Given the description of an element on the screen output the (x, y) to click on. 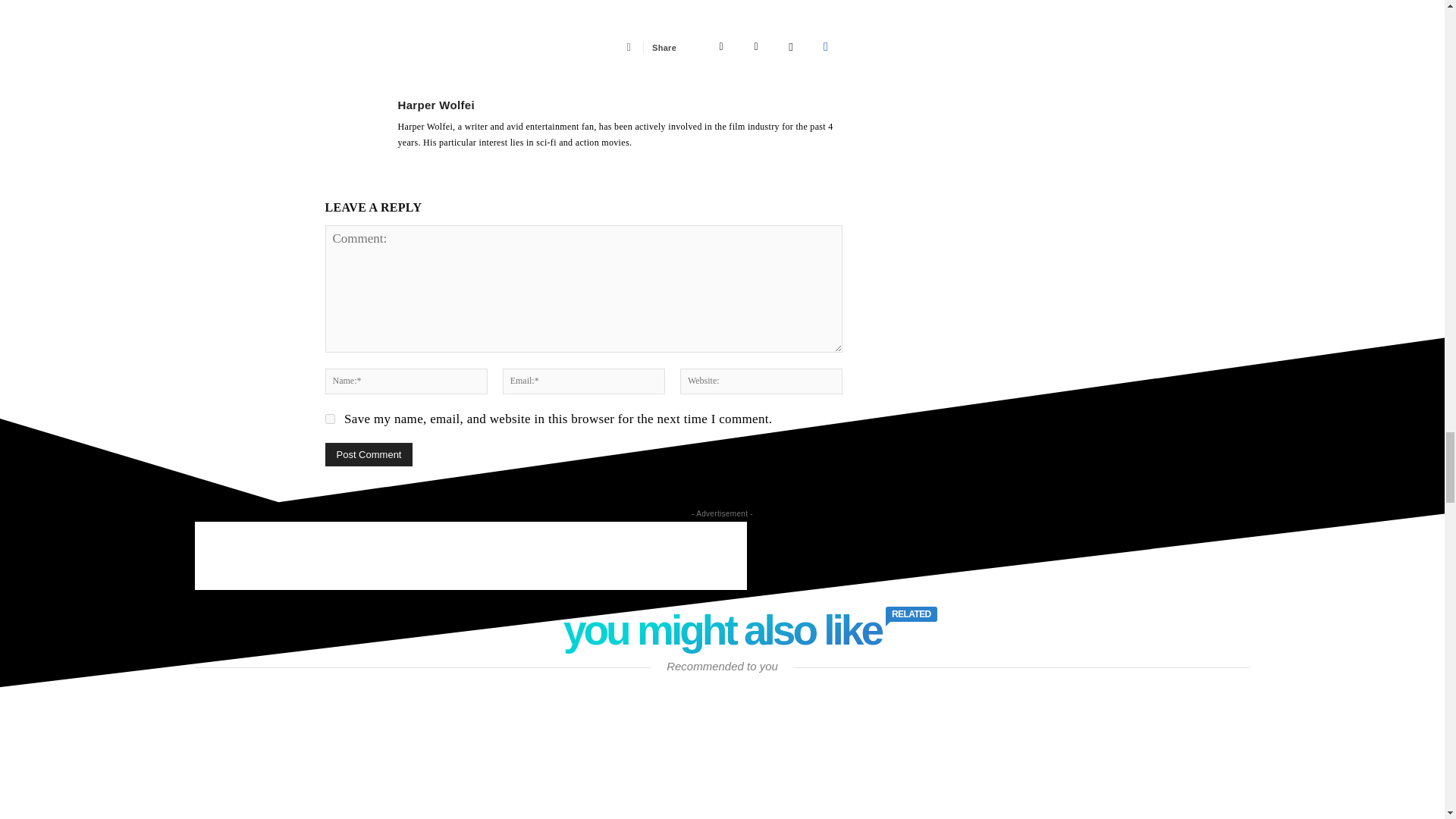
Post Comment (368, 454)
yes (329, 419)
